Given the description of an element on the screen output the (x, y) to click on. 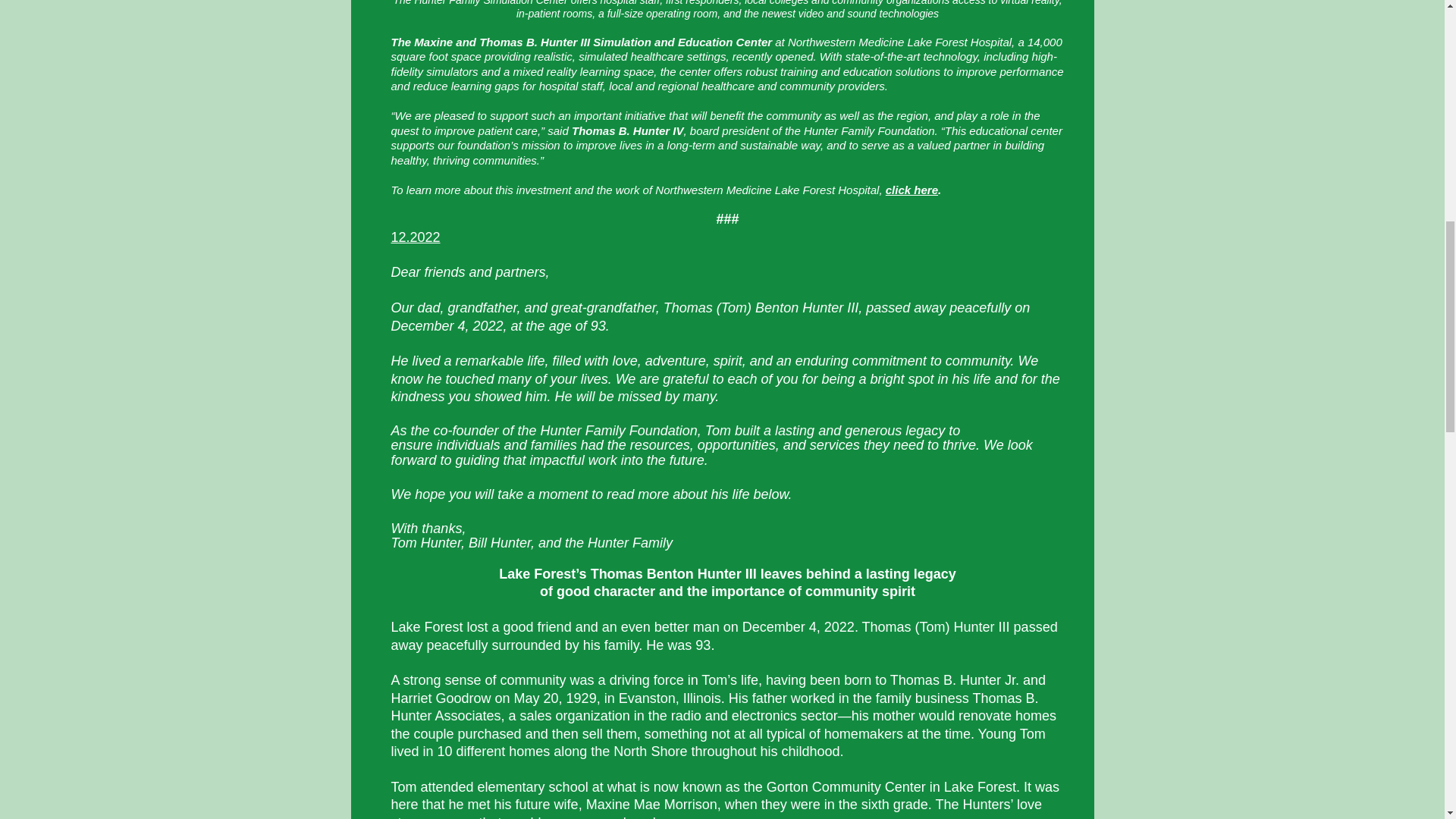
click here (911, 189)
